Given the description of an element on the screen output the (x, y) to click on. 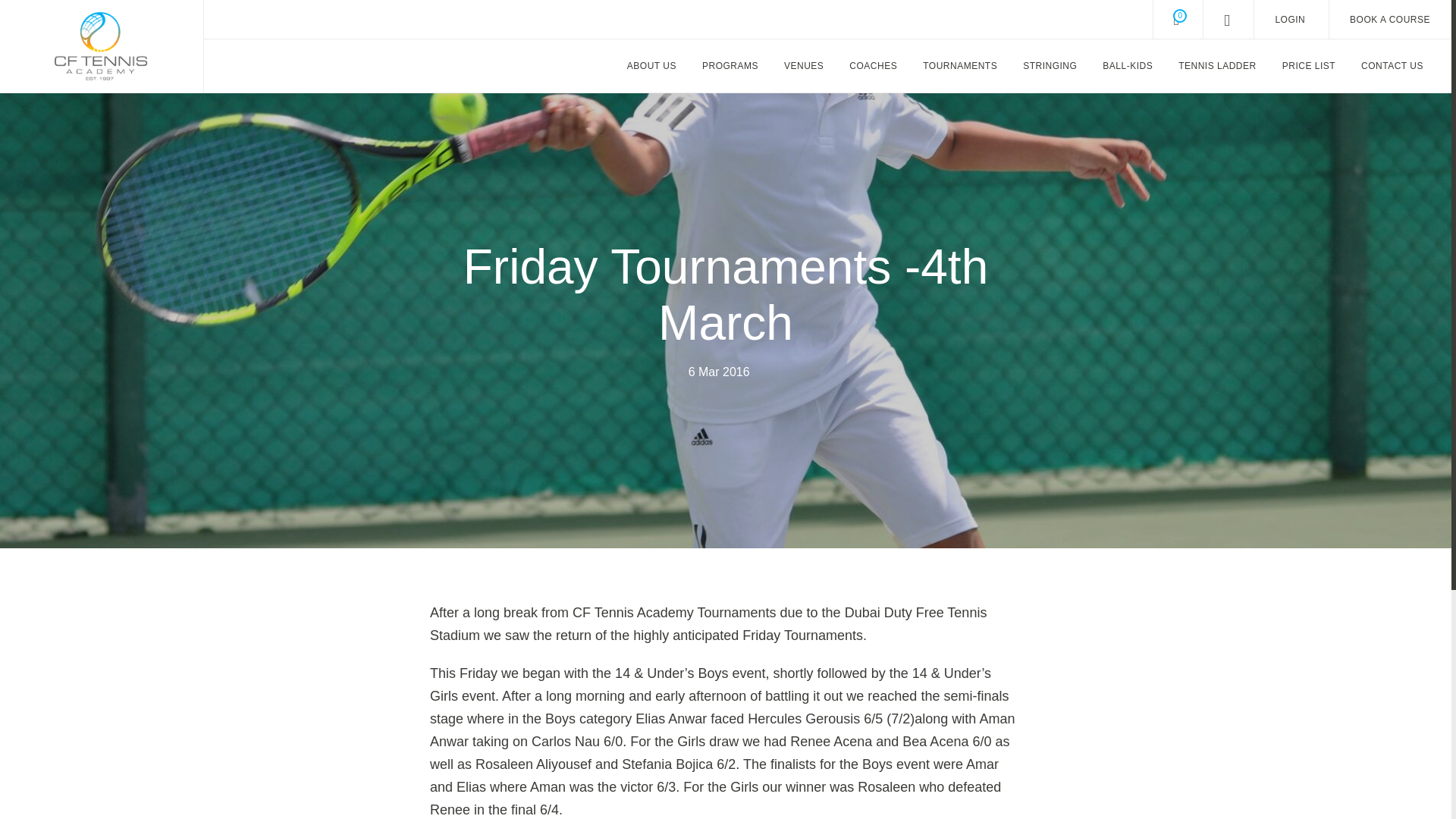
PRICE LIST (1308, 65)
VENUES (803, 65)
TOURNAMENTS (960, 65)
STRINGING (1049, 65)
LOGIN (1289, 19)
TENNIS LADDER (1217, 65)
COACHES (872, 65)
PROGRAMS (729, 65)
ABOUT US (651, 65)
BALL-KIDS (1127, 65)
BOOK A COURSE (1389, 19)
